Given the description of an element on the screen output the (x, y) to click on. 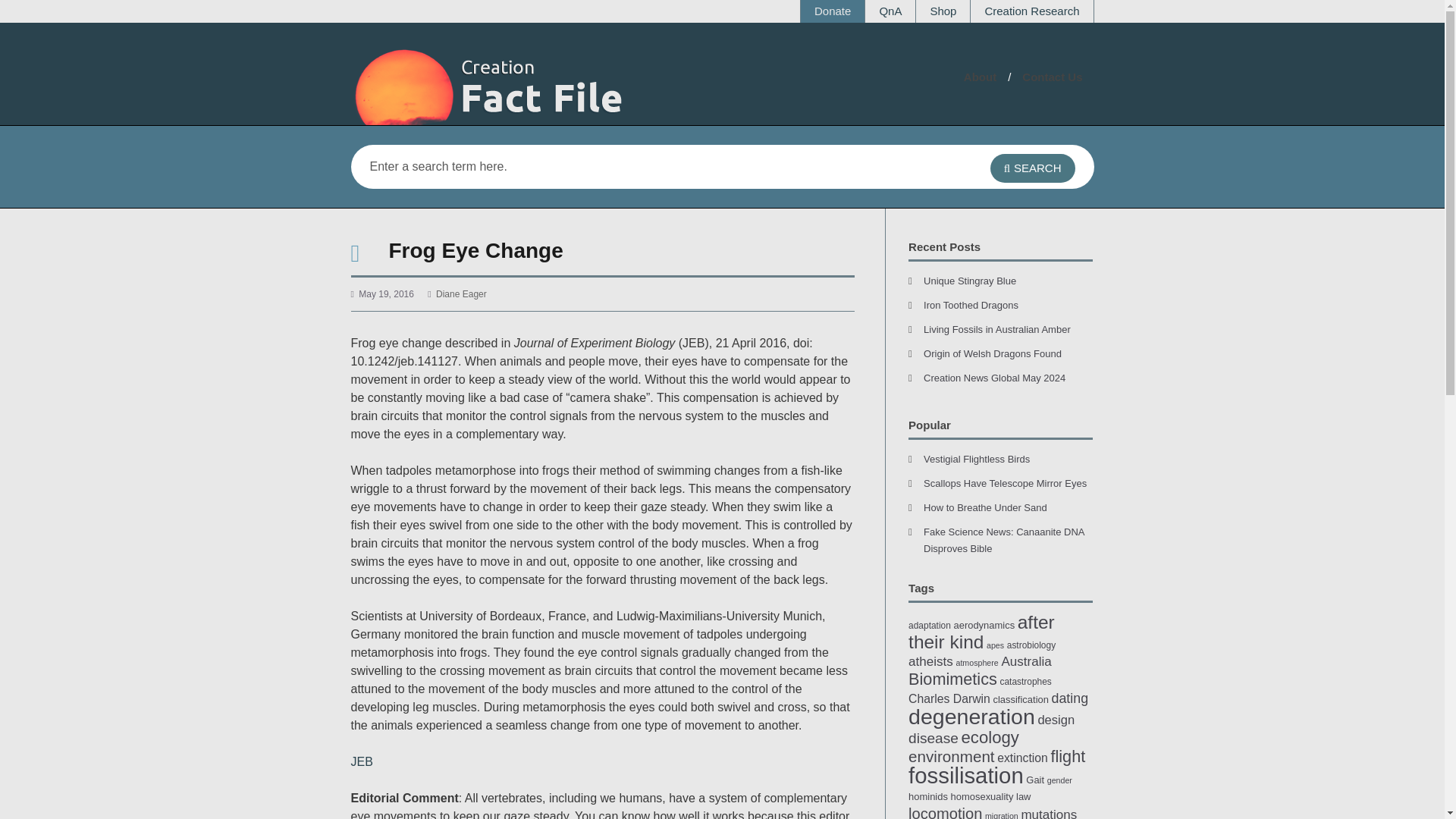
atmosphere (976, 662)
Australia (1026, 661)
aerodynamics (983, 624)
How to Breathe Under Sand (984, 507)
Creation Research (1032, 11)
Enter a search term here. (647, 166)
Charles Darwin (949, 698)
SEARCH (1032, 167)
Creation Fact File (525, 87)
Iron Toothed Dragons (970, 305)
